Given the description of an element on the screen output the (x, y) to click on. 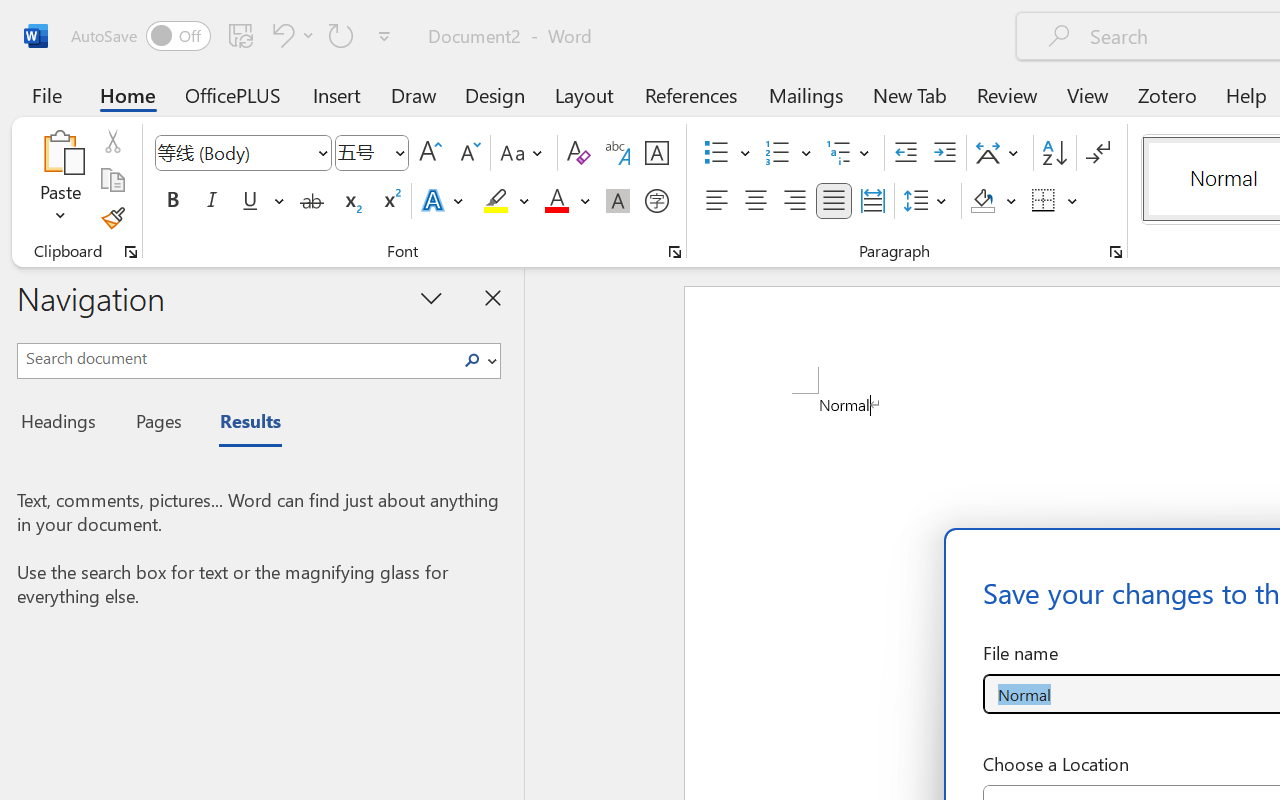
Repeat Doc Close (341, 35)
Shading RGB(0, 0, 0) (982, 201)
Change Case (524, 153)
Justify (834, 201)
Copy (112, 179)
Font Color Red (556, 201)
Phonetic Guide... (618, 153)
Zotero (1166, 94)
Show/Hide Editing Marks (1098, 153)
Insert (337, 94)
Design (495, 94)
Strikethrough (312, 201)
Font Color (567, 201)
Mailings (806, 94)
